Given the description of an element on the screen output the (x, y) to click on. 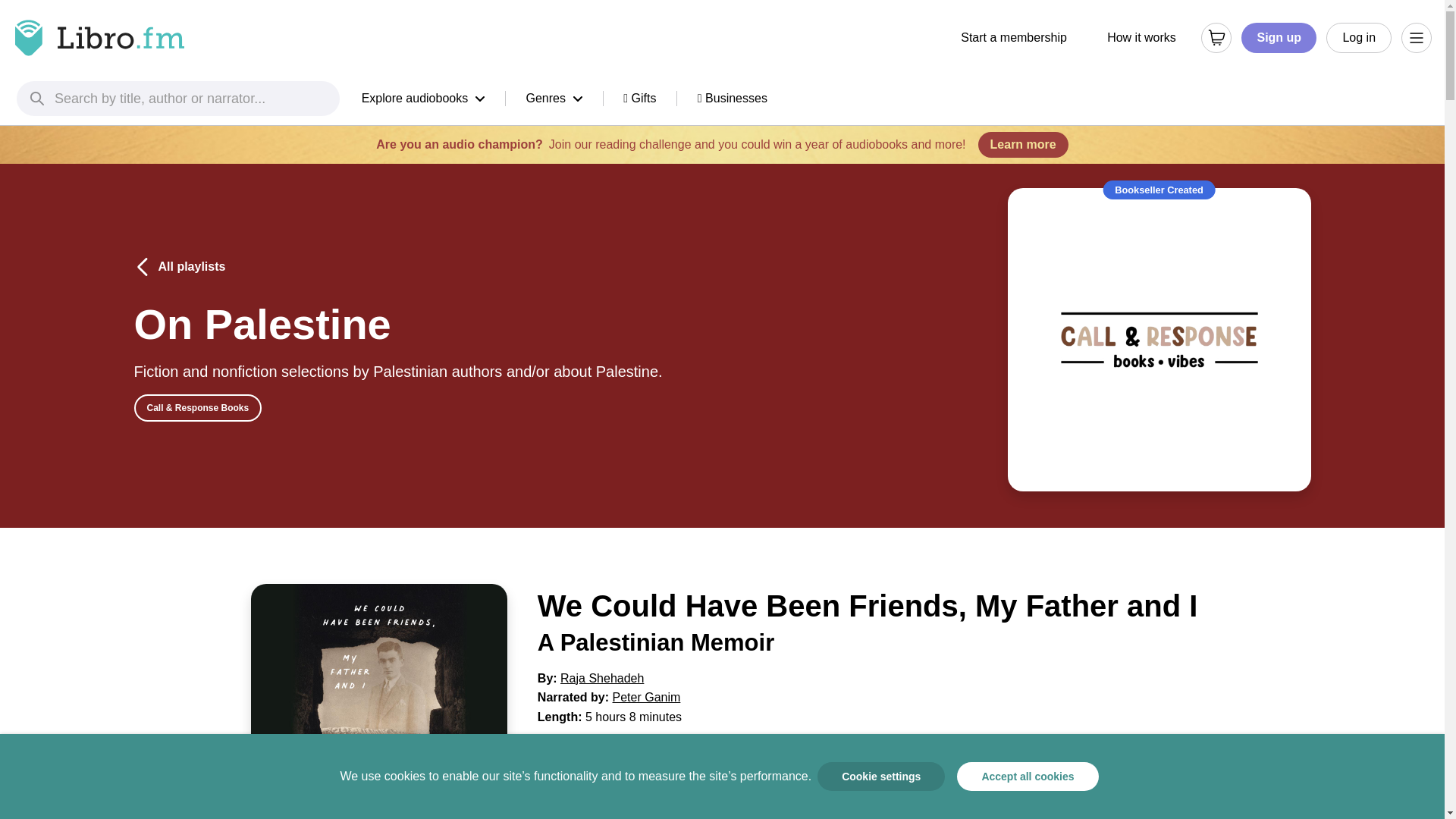
Cookie settings (880, 776)
Accept all cookies (1026, 776)
